Given the description of an element on the screen output the (x, y) to click on. 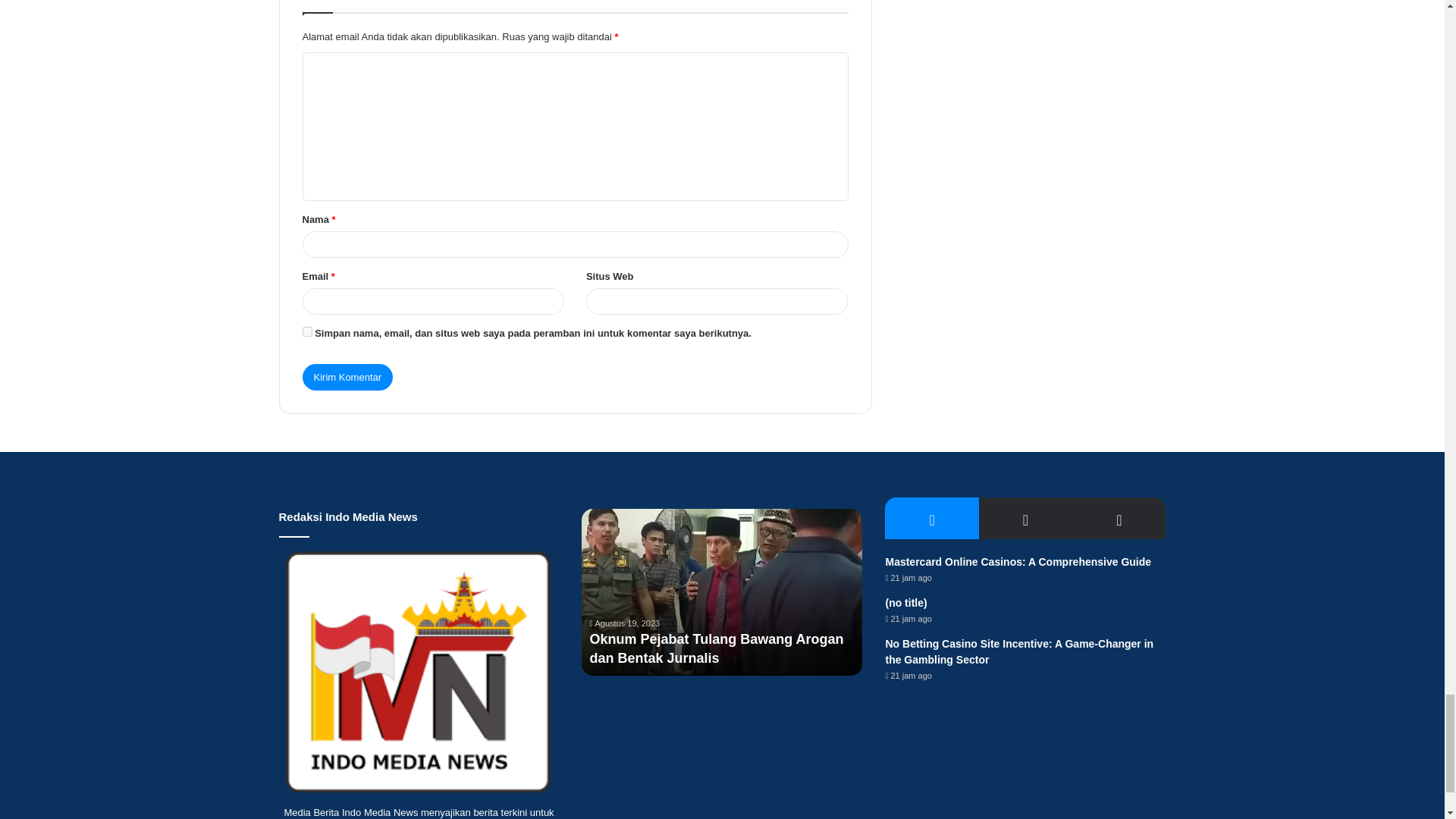
yes (306, 331)
Kirim Komentar (347, 376)
